Given the description of an element on the screen output the (x, y) to click on. 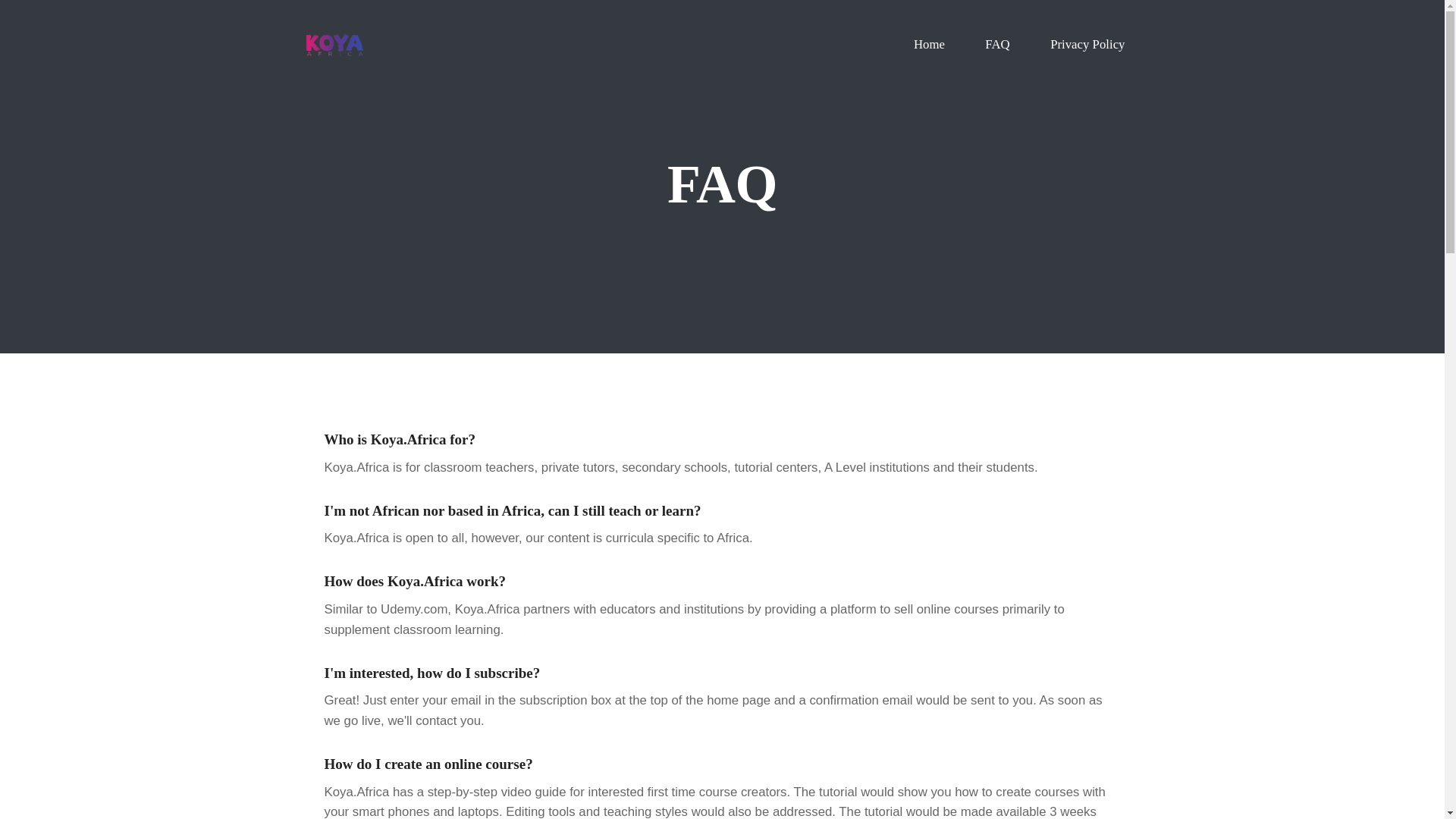
Privacy Policy (1087, 44)
FAQ (996, 44)
Home (928, 44)
